Given the description of an element on the screen output the (x, y) to click on. 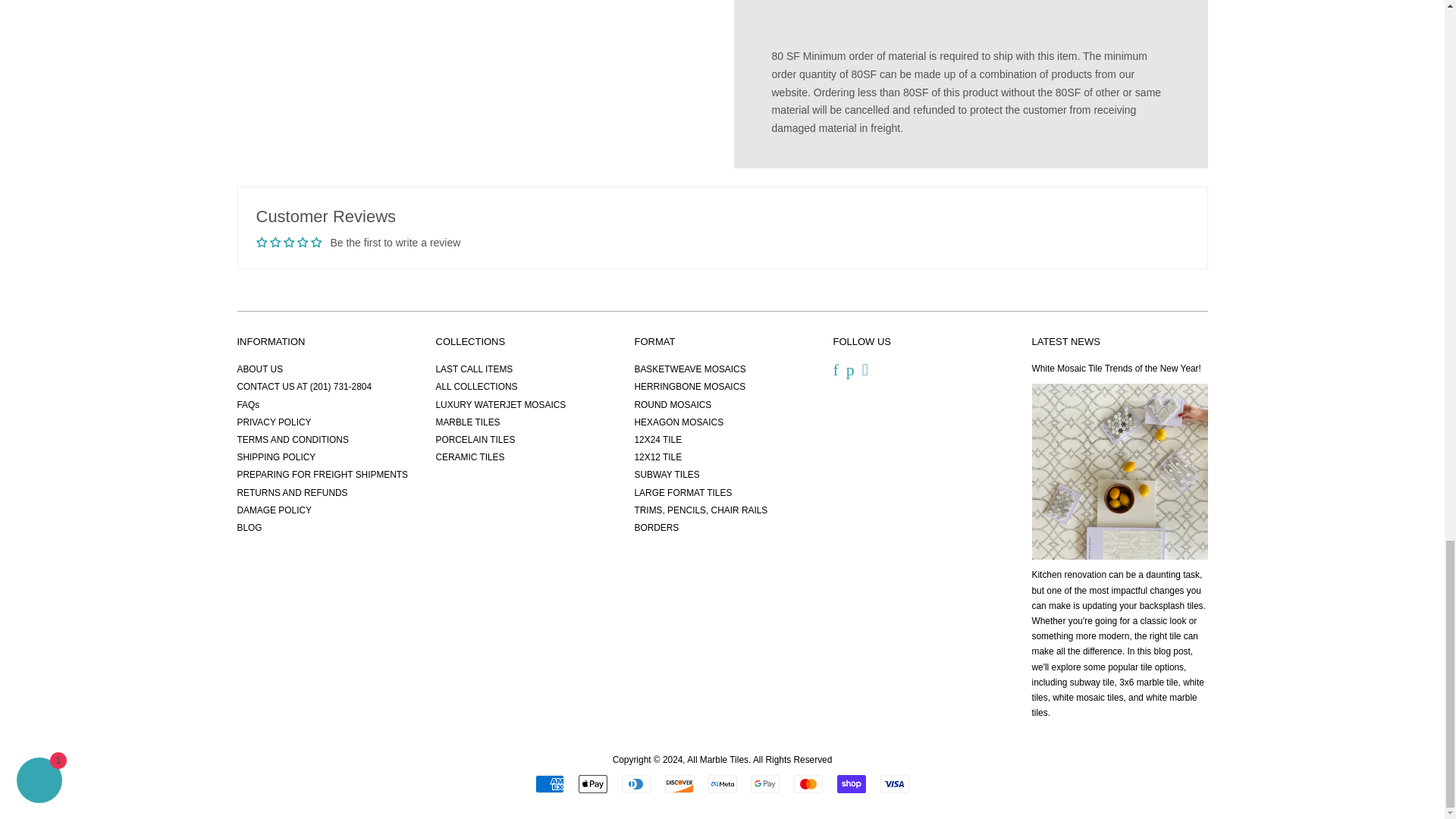
Google Pay (764, 783)
Shop Pay (851, 783)
Visa (894, 783)
Diners Club (635, 783)
American Express (549, 783)
Apple Pay (592, 783)
Discover (679, 783)
Meta Pay (721, 783)
Mastercard (807, 783)
